Given the description of an element on the screen output the (x, y) to click on. 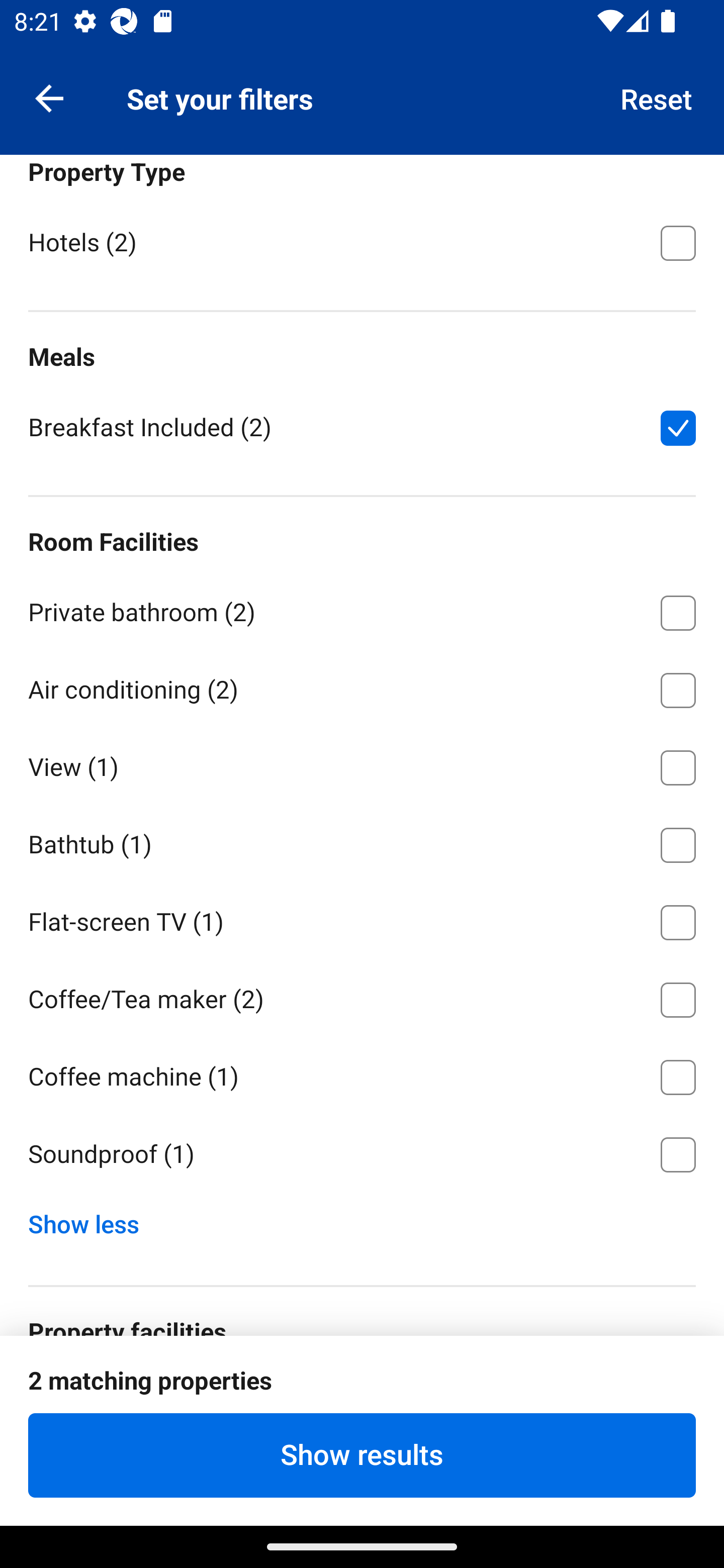
Navigate up (49, 97)
Reset (656, 97)
Hotels ⁦(2) (361, 241)
Breakfast Included ⁦(2) (361, 426)
Private bathroom ⁦(2) (361, 608)
Air conditioning ⁦(2) (361, 686)
View ⁦(1) (361, 763)
Bathtub ⁦(1) (361, 841)
Flat-screen TV ⁦(1) (361, 919)
Coffee/Tea maker ⁦(2) (361, 996)
Coffee machine ⁦(1) (361, 1073)
Soundproof ⁦(1) (361, 1154)
Show less (90, 1219)
Pet friendly ⁦(2) (361, 1399)
Show results (361, 1454)
